Given the description of an element on the screen output the (x, y) to click on. 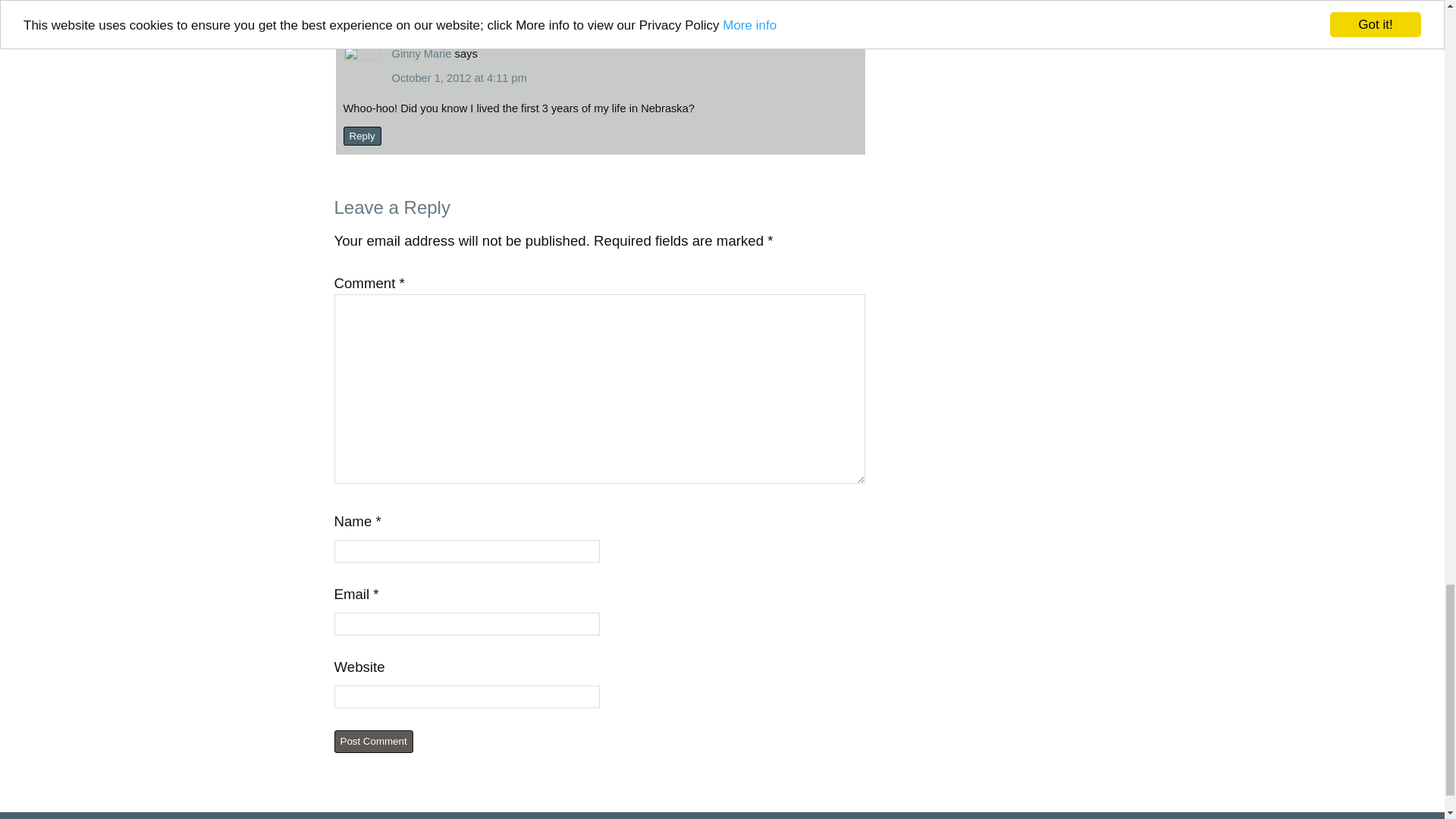
Post Comment (372, 741)
